Given the description of an element on the screen output the (x, y) to click on. 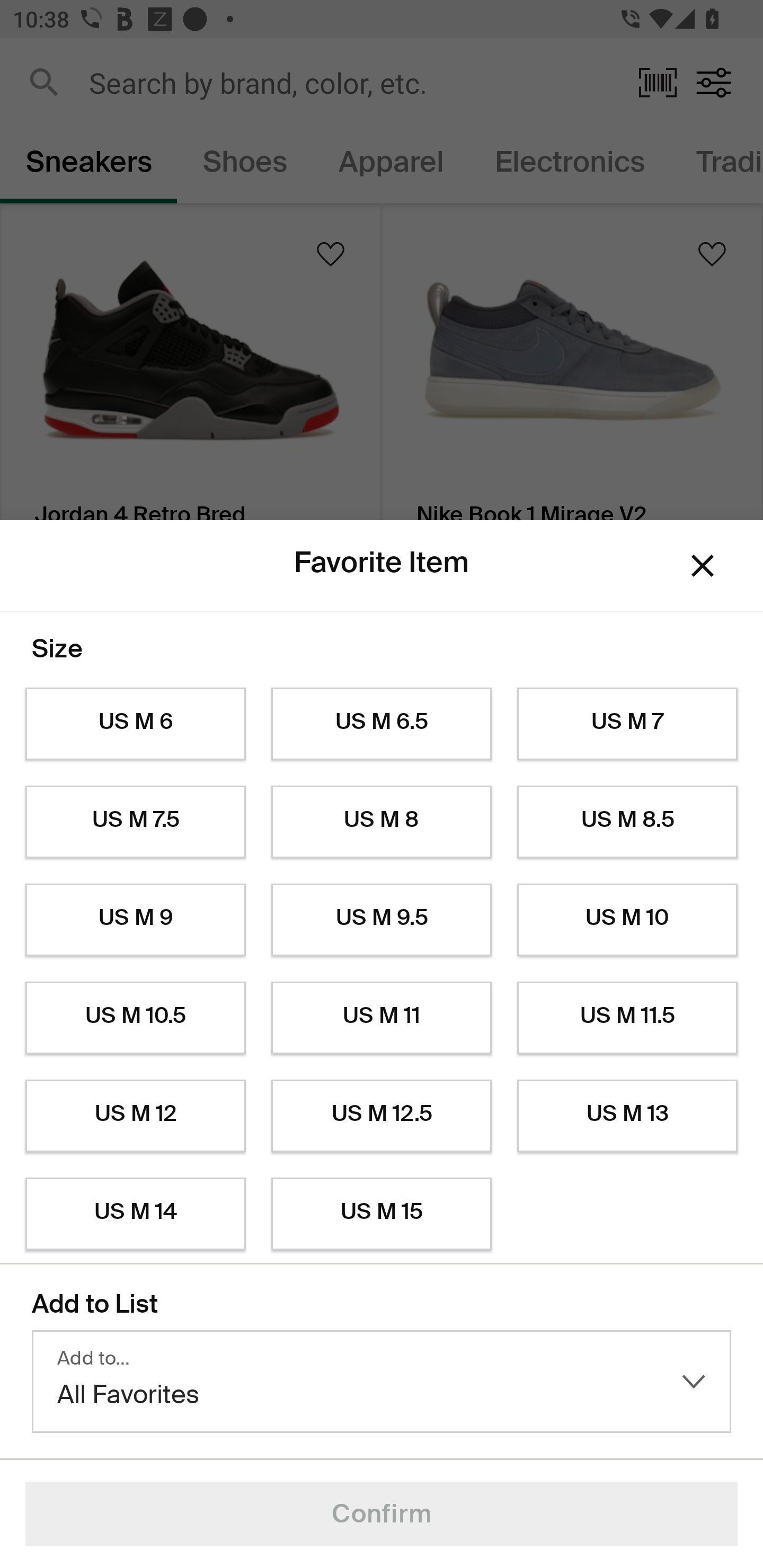
Dismiss (702, 564)
US M 6 (135, 724)
US M 6.5 (381, 724)
US M 7 (627, 724)
US M 7.5 (135, 822)
US M 8 (381, 822)
US M 8.5 (627, 822)
US M 9 (135, 919)
US M 9.5 (381, 919)
US M 10 (627, 919)
US M 10.5 (135, 1018)
US M 11 (381, 1018)
US M 11.5 (627, 1018)
US M 12 (135, 1116)
US M 12.5 (381, 1116)
US M 13 (627, 1116)
US M 14 (135, 1214)
US M 15 (381, 1214)
Add to… All Favorites (381, 1381)
Confirm (381, 1513)
